Given the description of an element on the screen output the (x, y) to click on. 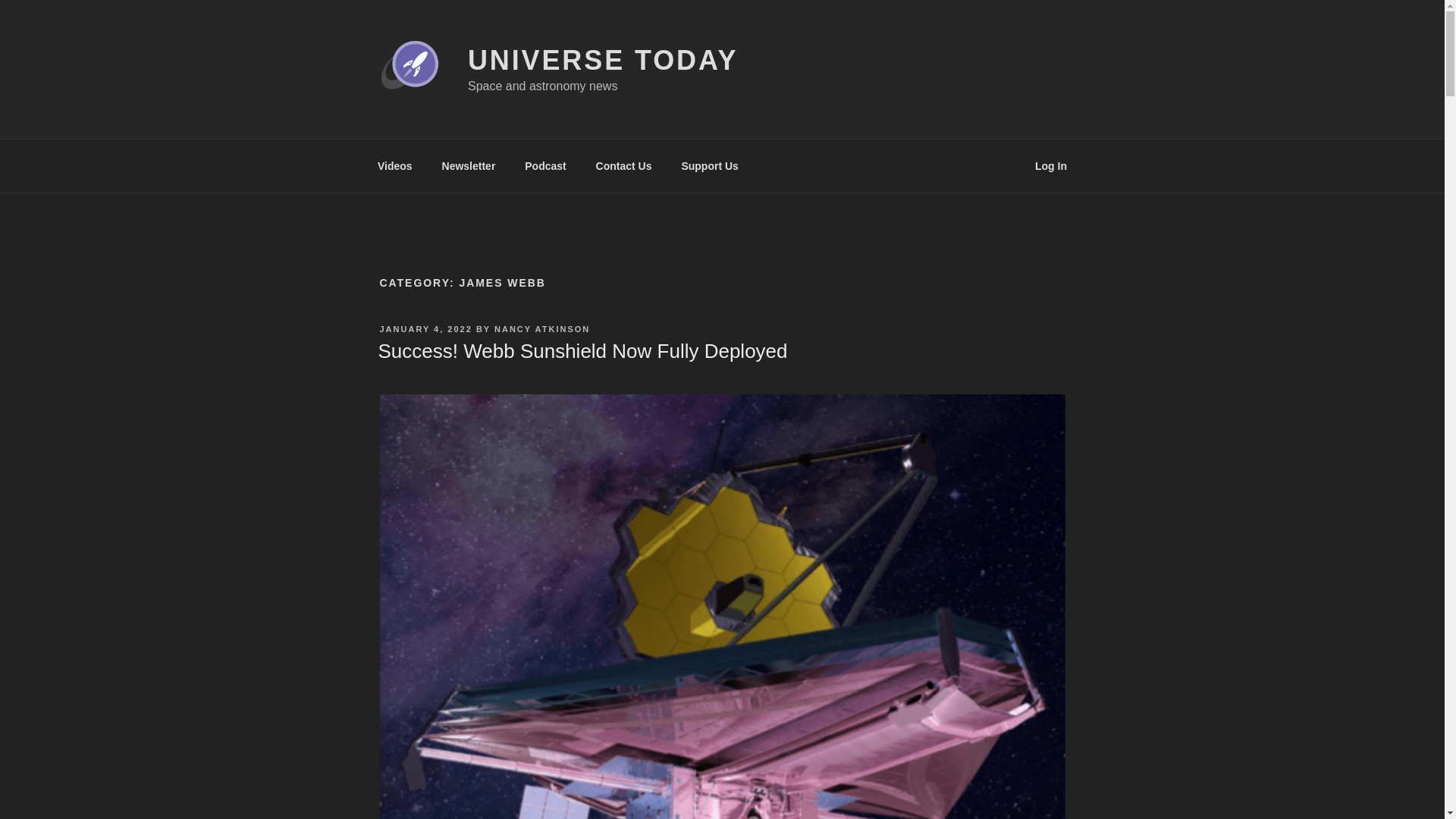
UNIVERSE TODAY (602, 60)
Videos (394, 165)
Success! Webb Sunshield Now Fully Deployed (582, 350)
Support Us (709, 165)
Newsletter (468, 165)
NANCY ATKINSON (542, 328)
Contact Us (623, 165)
Podcast (545, 165)
JANUARY 4, 2022 (424, 328)
Log In (1051, 165)
